Given the description of an element on the screen output the (x, y) to click on. 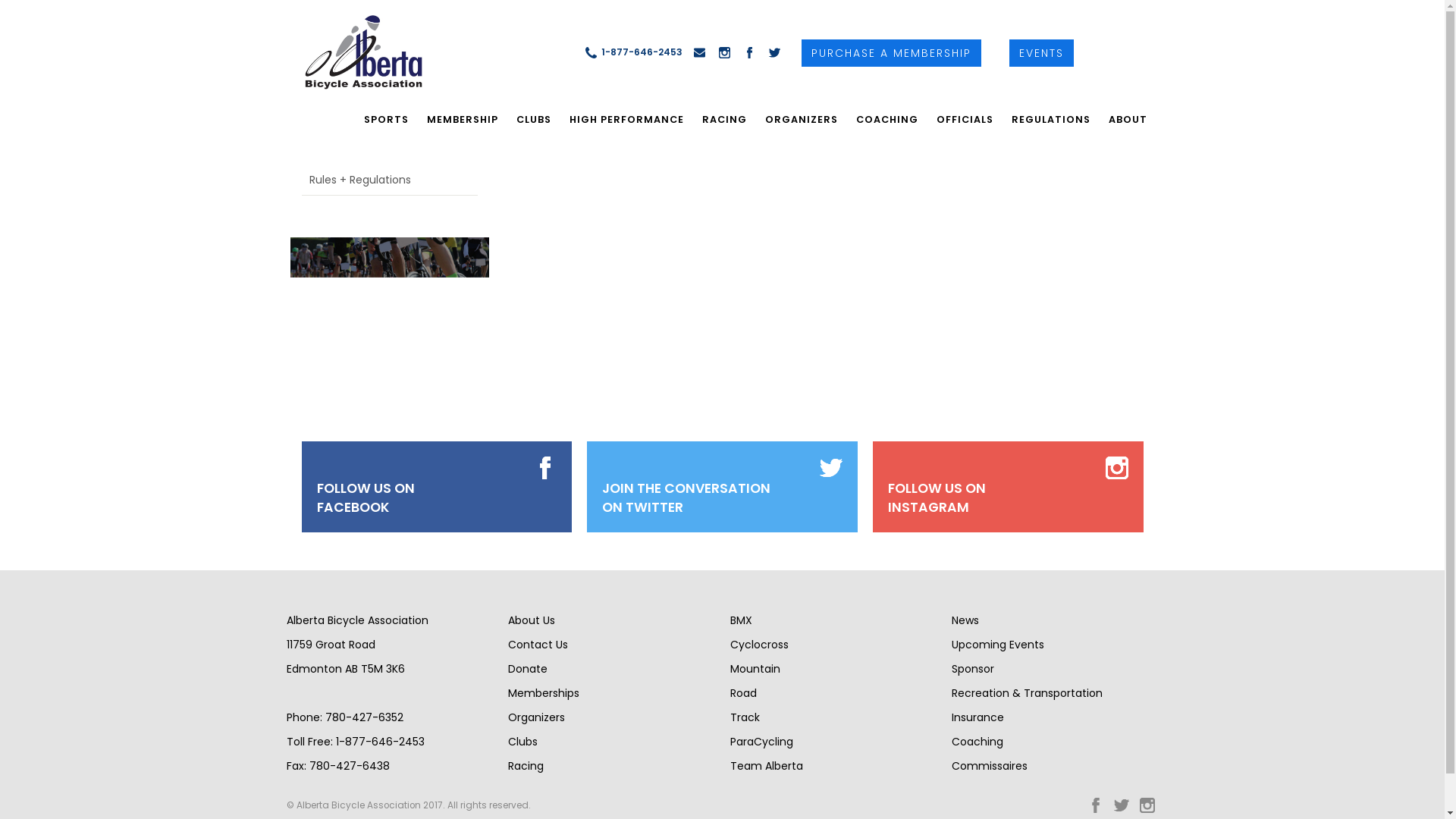
BMX Element type: text (740, 619)
Organizers Element type: text (536, 716)
Rules + Regulations Element type: text (389, 179)
Coaching Element type: text (977, 741)
FOLLOW US ON
FACEBOOK Element type: text (365, 498)
RACING Element type: text (724, 119)
1-877-646-2453 Element type: text (379, 741)
CLUBS Element type: text (533, 119)
1-877-646-2453 Element type: text (632, 51)
Contact Us Element type: text (537, 644)
Road Element type: text (742, 692)
About Us Element type: text (531, 619)
Donate Element type: text (527, 668)
SPORTS Element type: text (386, 119)
ParaCycling Element type: text (760, 741)
Sponsor Element type: text (972, 668)
MEMBERSHIP Element type: text (461, 119)
Upcoming Events Element type: text (997, 644)
Track Element type: text (744, 716)
News Element type: text (965, 619)
OFFICIALS Element type: text (964, 119)
Cyclocross Element type: text (758, 644)
Racing Element type: text (525, 765)
ABOUT Element type: text (1127, 119)
Recreation & Transportation Element type: text (1026, 692)
JOIN THE CONVERSATION
ON TWITTER Element type: text (686, 498)
FOLLOW US ON
INSTAGRAM Element type: text (936, 498)
COACHING Element type: text (886, 119)
Mountain Element type: text (754, 668)
780-427-6352 Element type: text (363, 716)
HIGH PERFORMANCE Element type: text (625, 119)
Clubs Element type: text (522, 741)
Commissaires Element type: text (989, 765)
ORGANIZERS Element type: text (800, 119)
        Element type: text (352, 51)
Insurance Element type: text (977, 716)
REGULATIONS Element type: text (1051, 119)
Team Alberta Element type: text (765, 765)
PURCHASE A MEMBERSHIP Element type: text (891, 52)
Memberships Element type: text (543, 692)
EVENTS Element type: text (1041, 52)
